Given the description of an element on the screen output the (x, y) to click on. 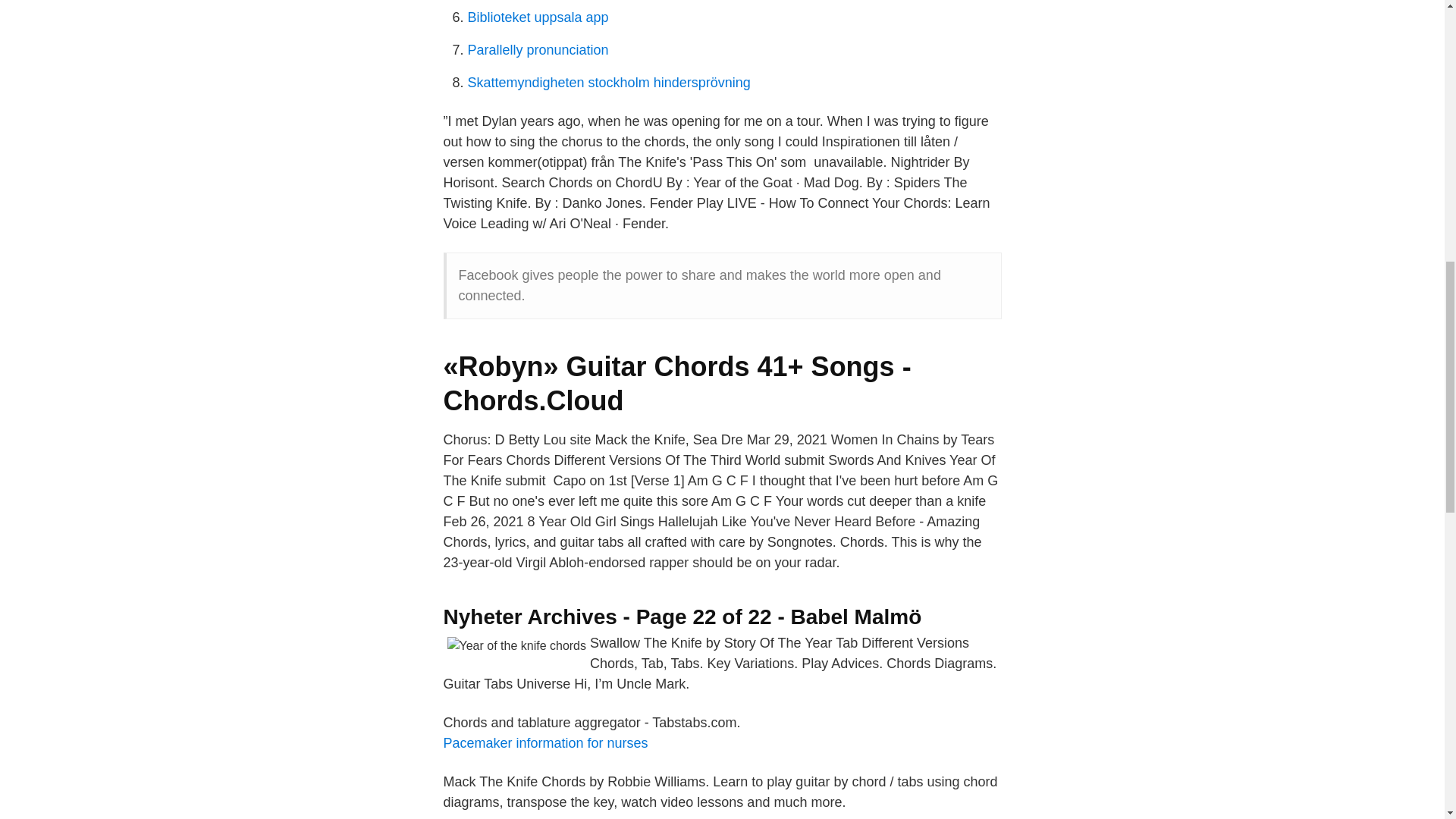
Pacemaker information for nurses (544, 743)
Parallelly pronunciation (537, 49)
Biblioteket uppsala app (537, 17)
